Given the description of an element on the screen output the (x, y) to click on. 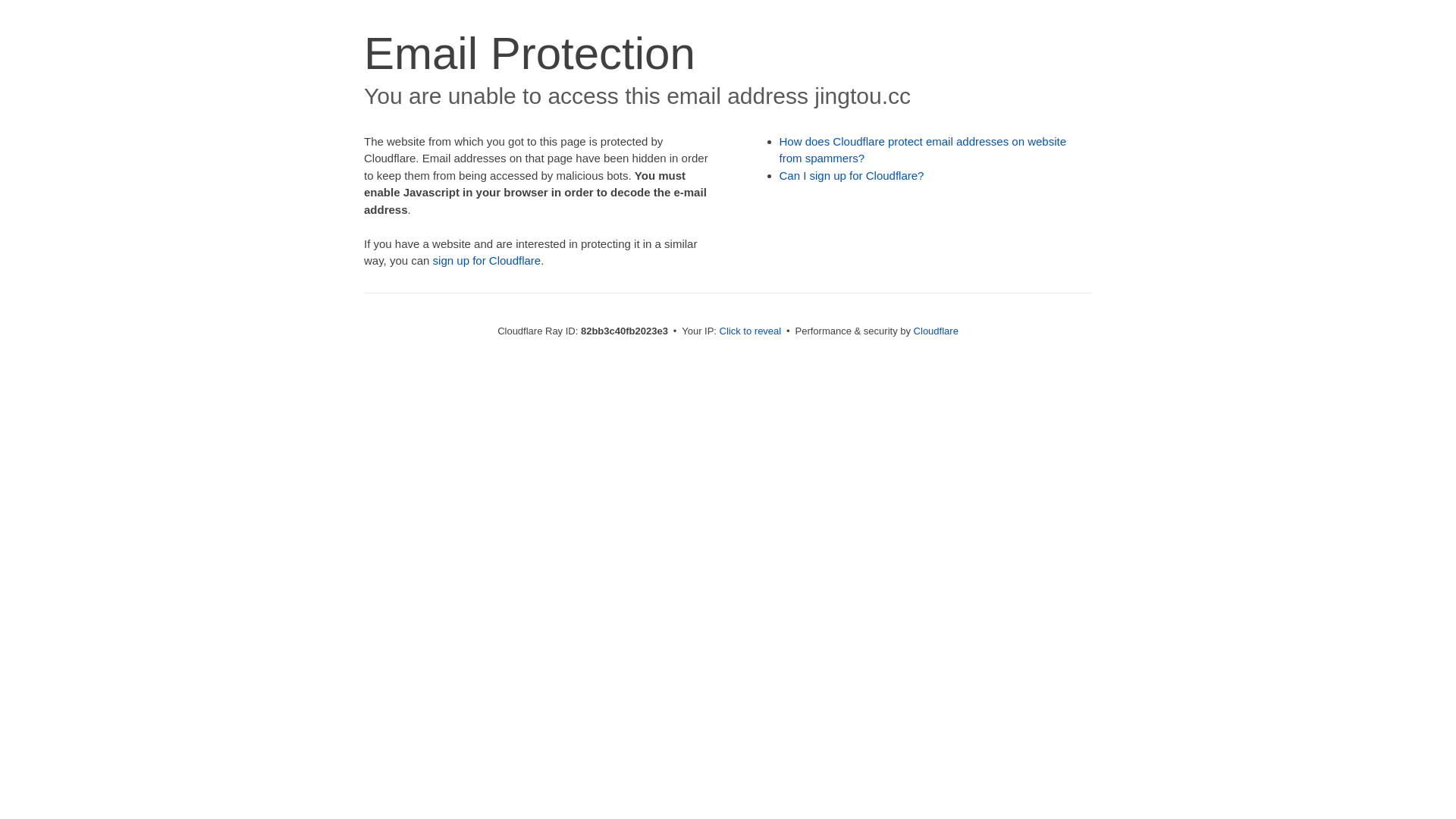
Click to reveal Element type: text (750, 330)
sign up for Cloudflare Element type: text (487, 260)
Cloudflare Element type: text (935, 330)
Can I sign up for Cloudflare? Element type: text (851, 175)
